Given the description of an element on the screen output the (x, y) to click on. 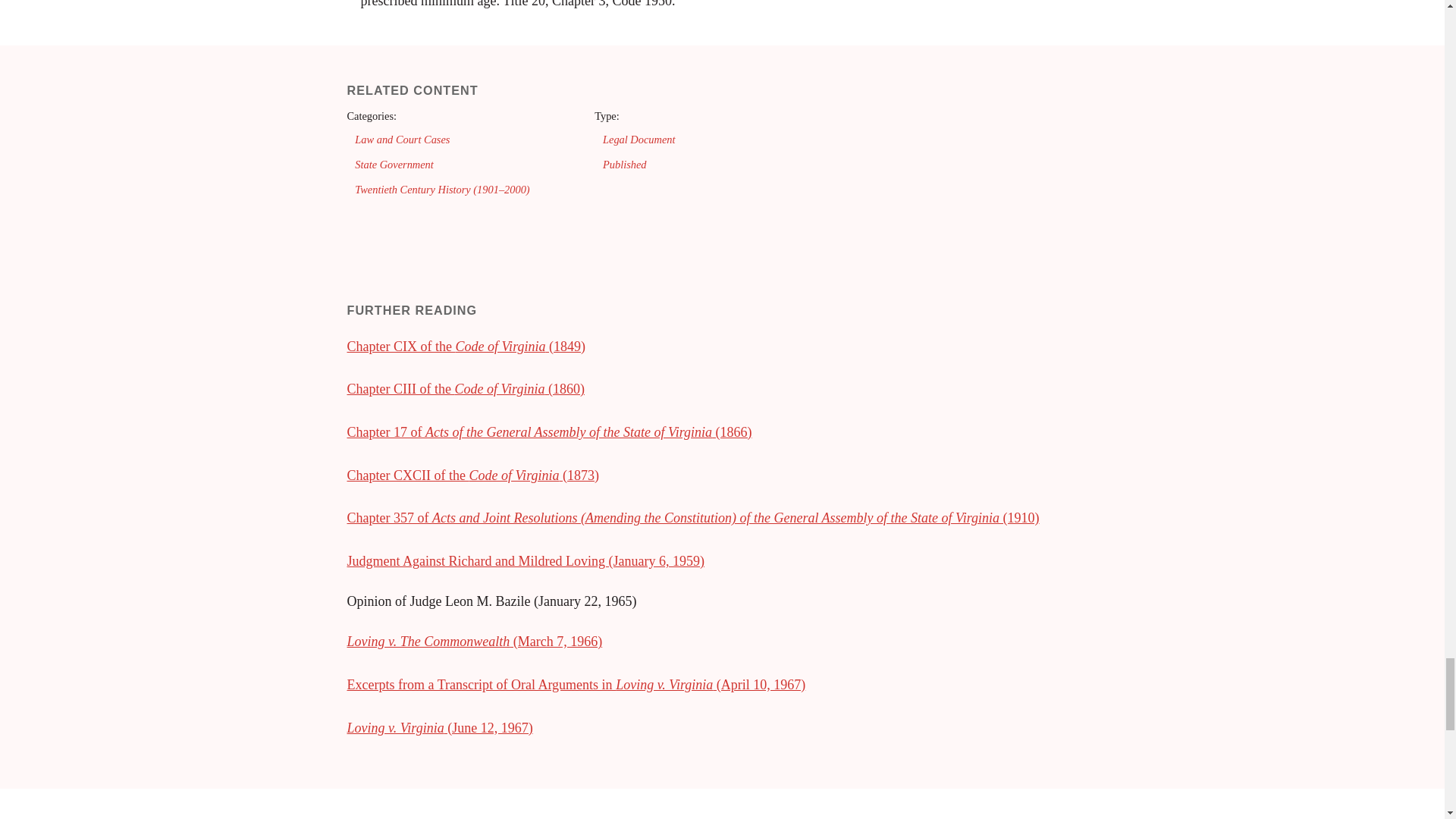
Law and Court Cases (402, 139)
State Government (394, 164)
Published (624, 164)
Legal Document (638, 139)
